Given the description of an element on the screen output the (x, y) to click on. 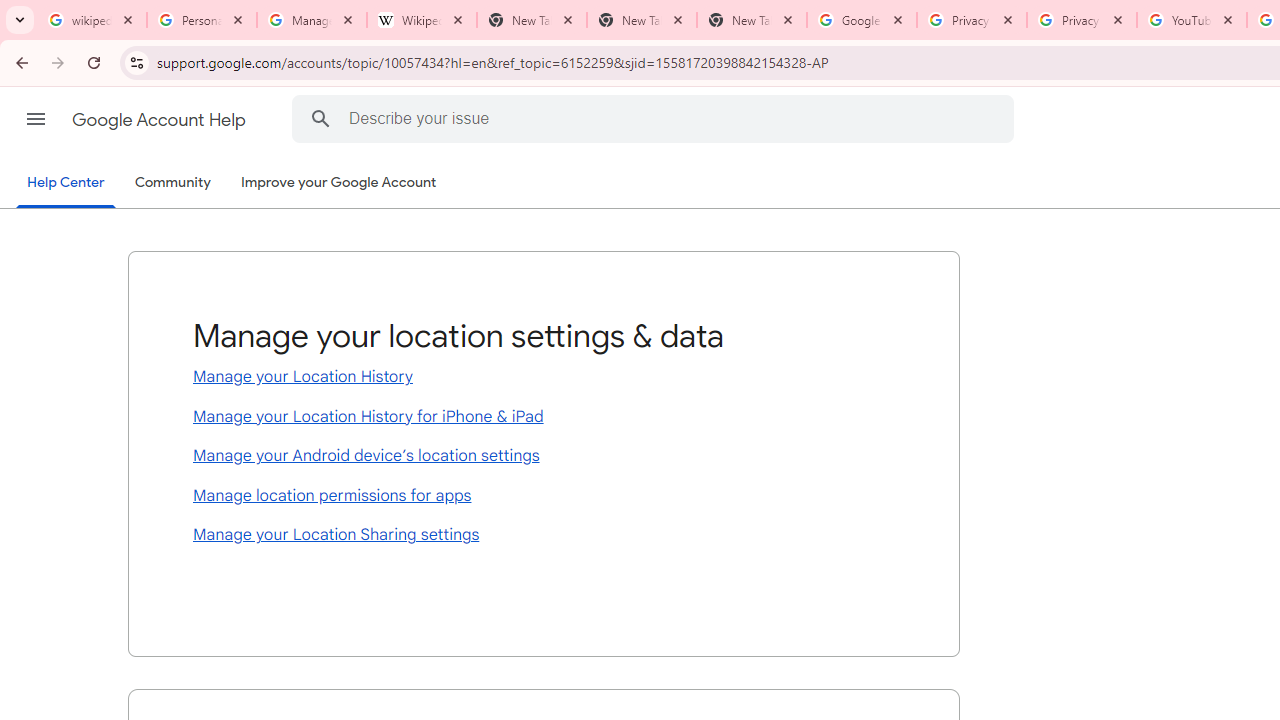
Wikipedia:Edit requests - Wikipedia (422, 20)
